Given the description of an element on the screen output the (x, y) to click on. 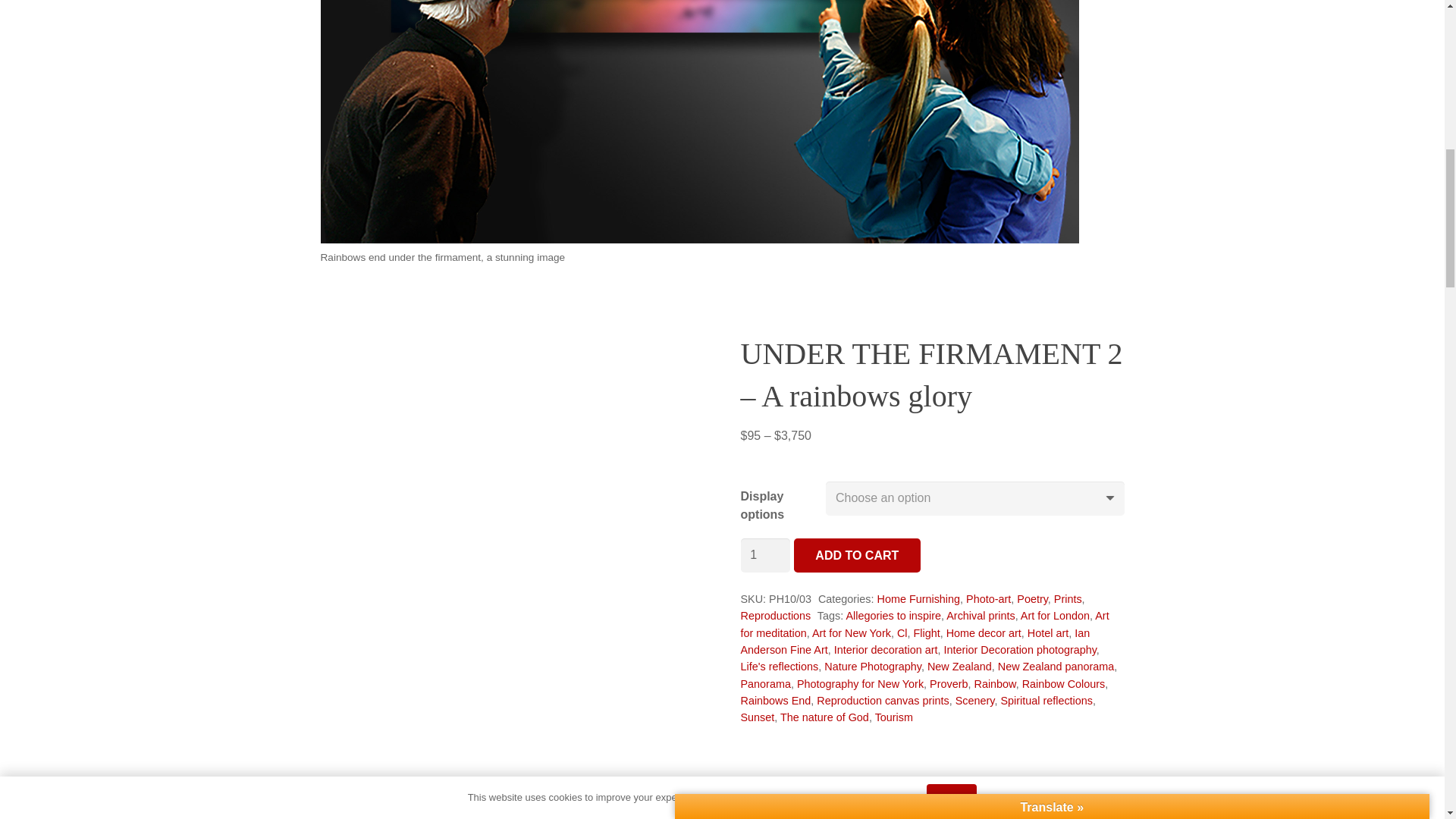
Home Furnishing (917, 598)
Prints (1067, 598)
1 (764, 555)
Poetry (1032, 598)
Photo-art (988, 598)
ADD TO CART (857, 555)
